Given the description of an element on the screen output the (x, y) to click on. 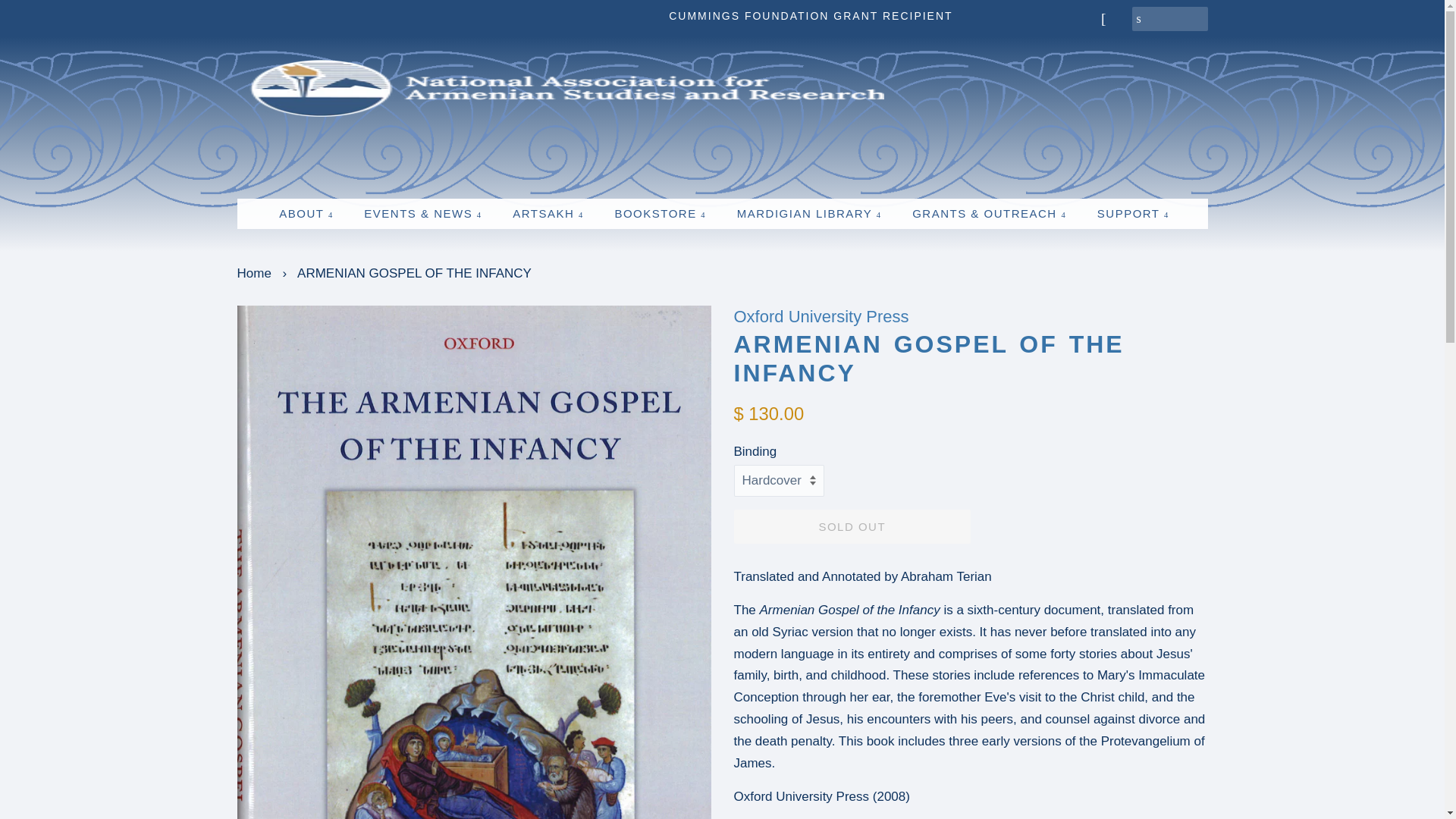
CUMMINGS FOUNDATION GRANT RECIPIENT (810, 15)
Back to the frontpage (255, 273)
